Given the description of an element on the screen output the (x, y) to click on. 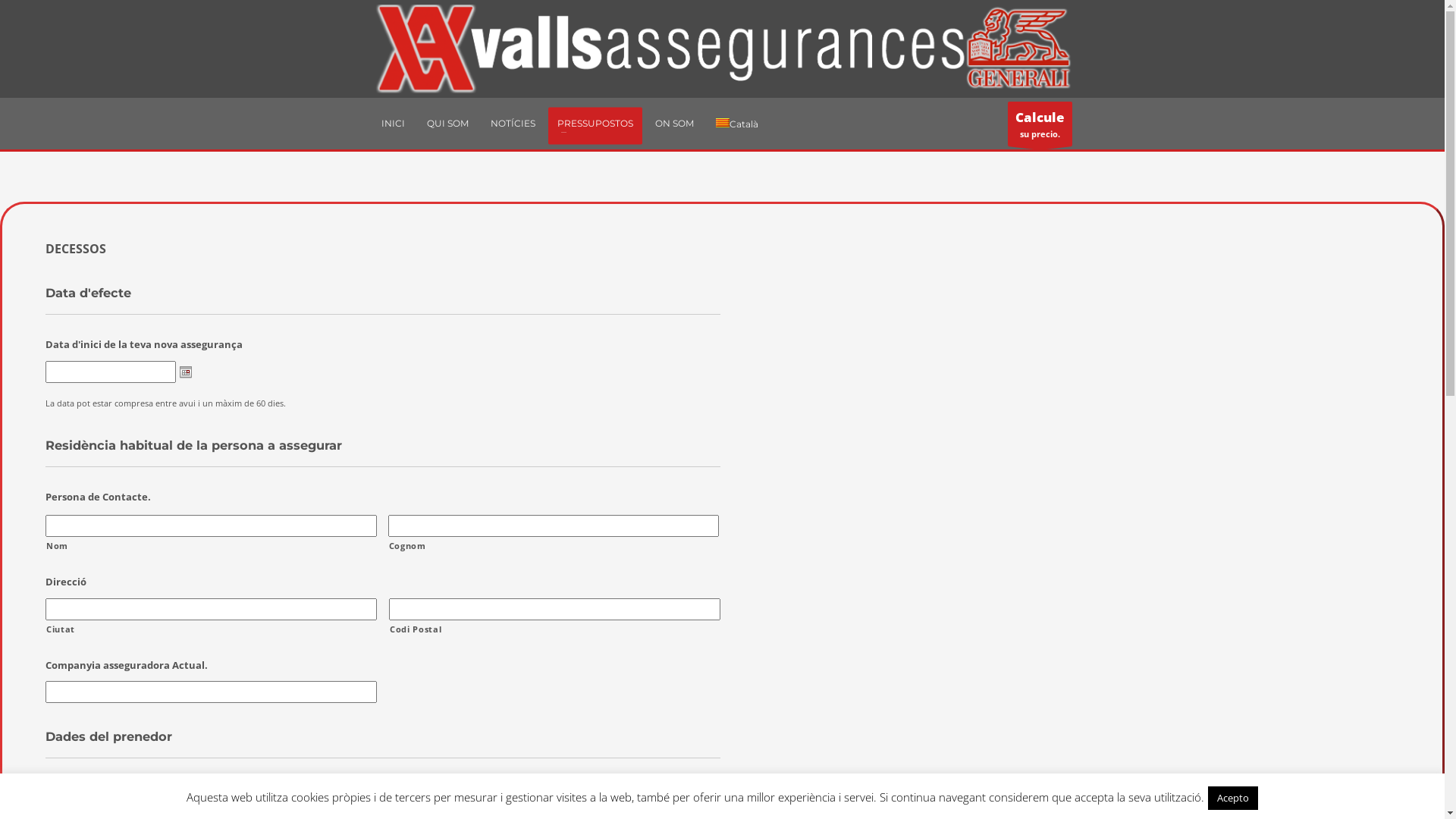
INICI Element type: text (393, 123)
Valls Assegurances Element type: hover (722, 49)
Acepto Element type: text (1233, 797)
QUI SOM Element type: text (447, 123)
Calcule
su precio. Element type: text (1039, 123)
PRESSUPOSTOS Element type: text (595, 123)
ON SOM Element type: text (674, 123)
